Given the description of an element on the screen output the (x, y) to click on. 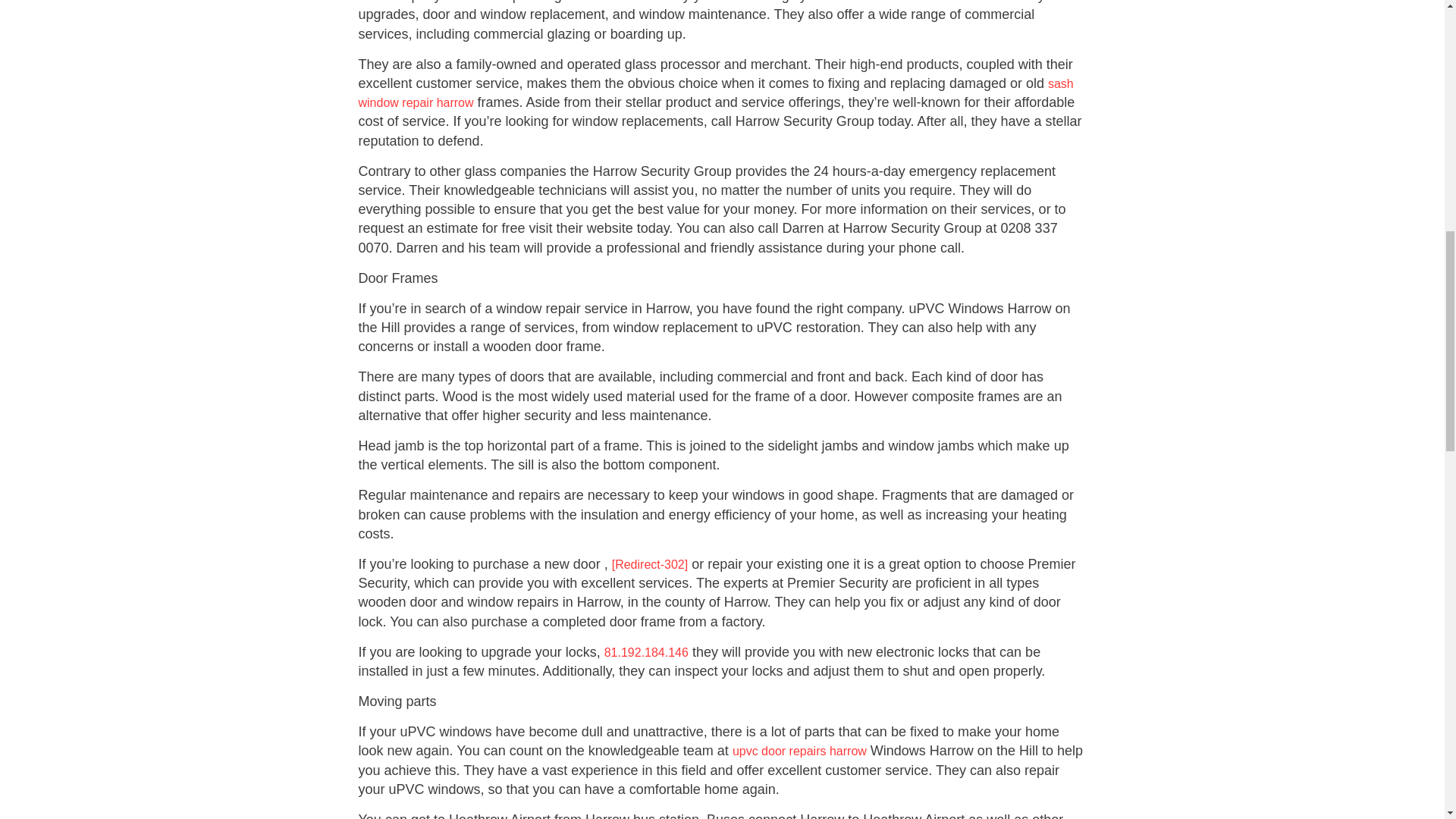
81.192.184.146 (646, 652)
upvc door repairs harrow (799, 750)
sash window repair harrow (715, 92)
